Given the description of an element on the screen output the (x, y) to click on. 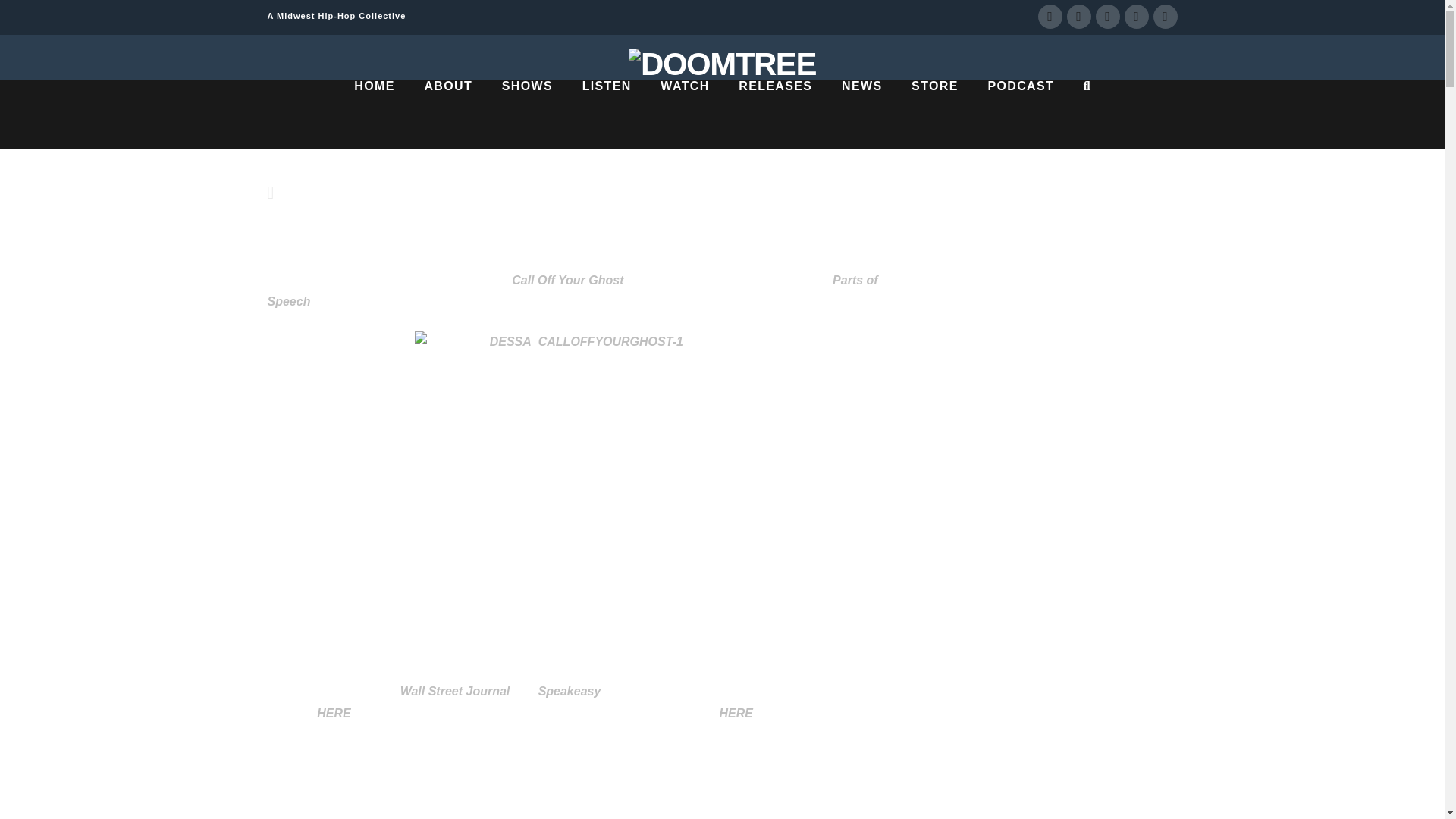
WATCH (684, 114)
NEWS (861, 114)
ABOUT (447, 114)
YouTube (1106, 16)
Twitter (1077, 16)
RELEASES (775, 114)
PODCAST (1019, 114)
Call Off Your Ghost (567, 279)
SHOWS (526, 114)
Speakeasy (569, 690)
Facebook (1048, 16)
Wall Street Journal (455, 690)
HERE (735, 712)
LISTEN (606, 114)
Instagram (1136, 16)
